Given the description of an element on the screen output the (x, y) to click on. 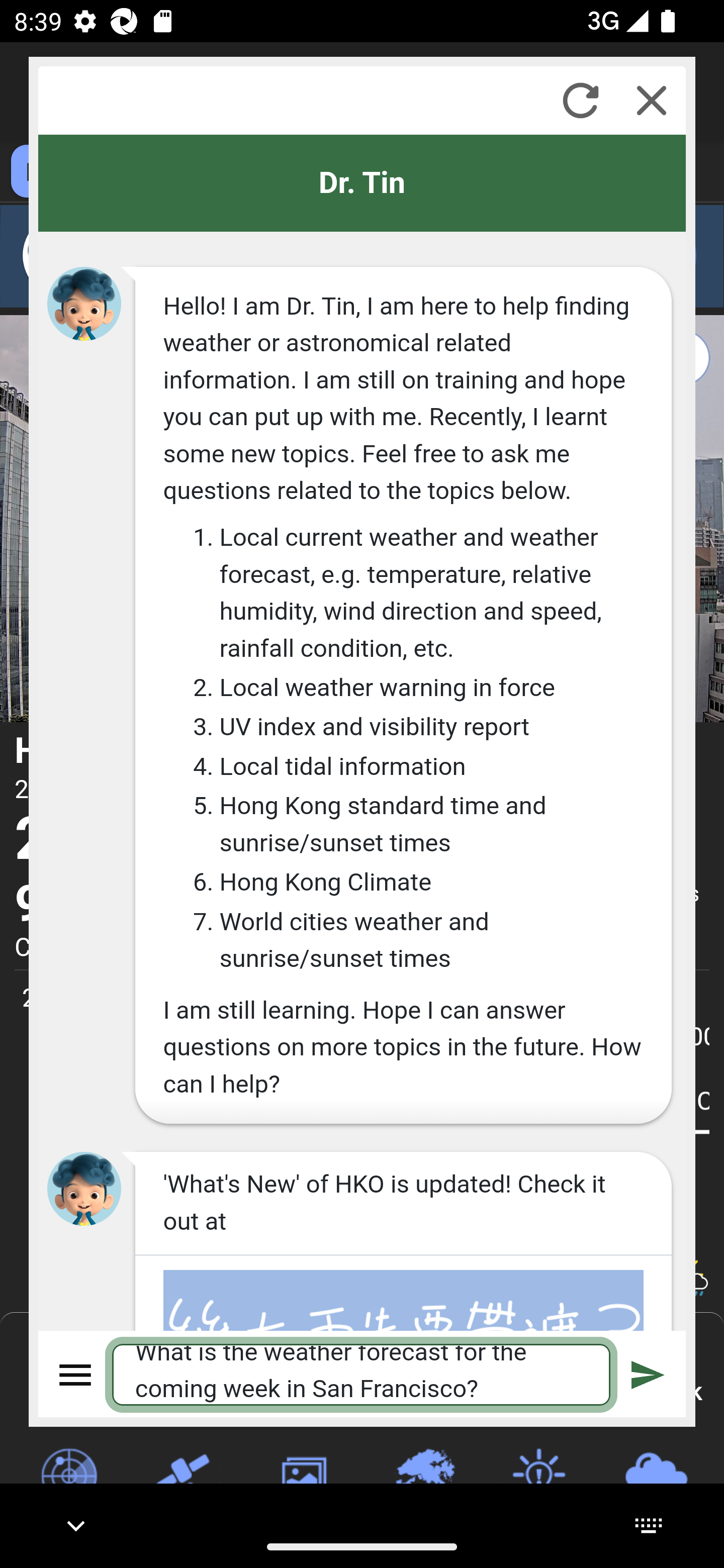
Refresh (580, 100)
Close (651, 100)
Menu (75, 1374)
Submit (648, 1374)
